Given the description of an element on the screen output the (x, y) to click on. 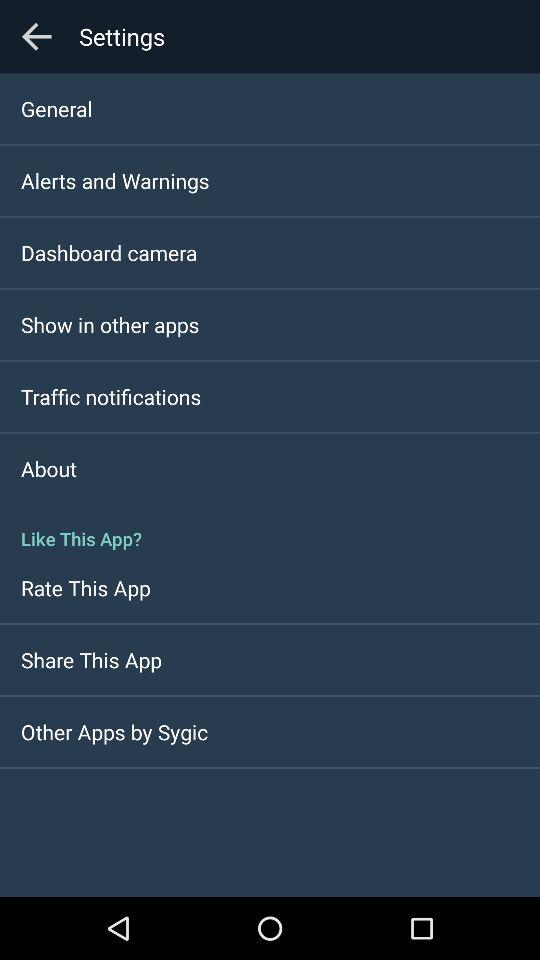
turn on item above general item (36, 36)
